Given the description of an element on the screen output the (x, y) to click on. 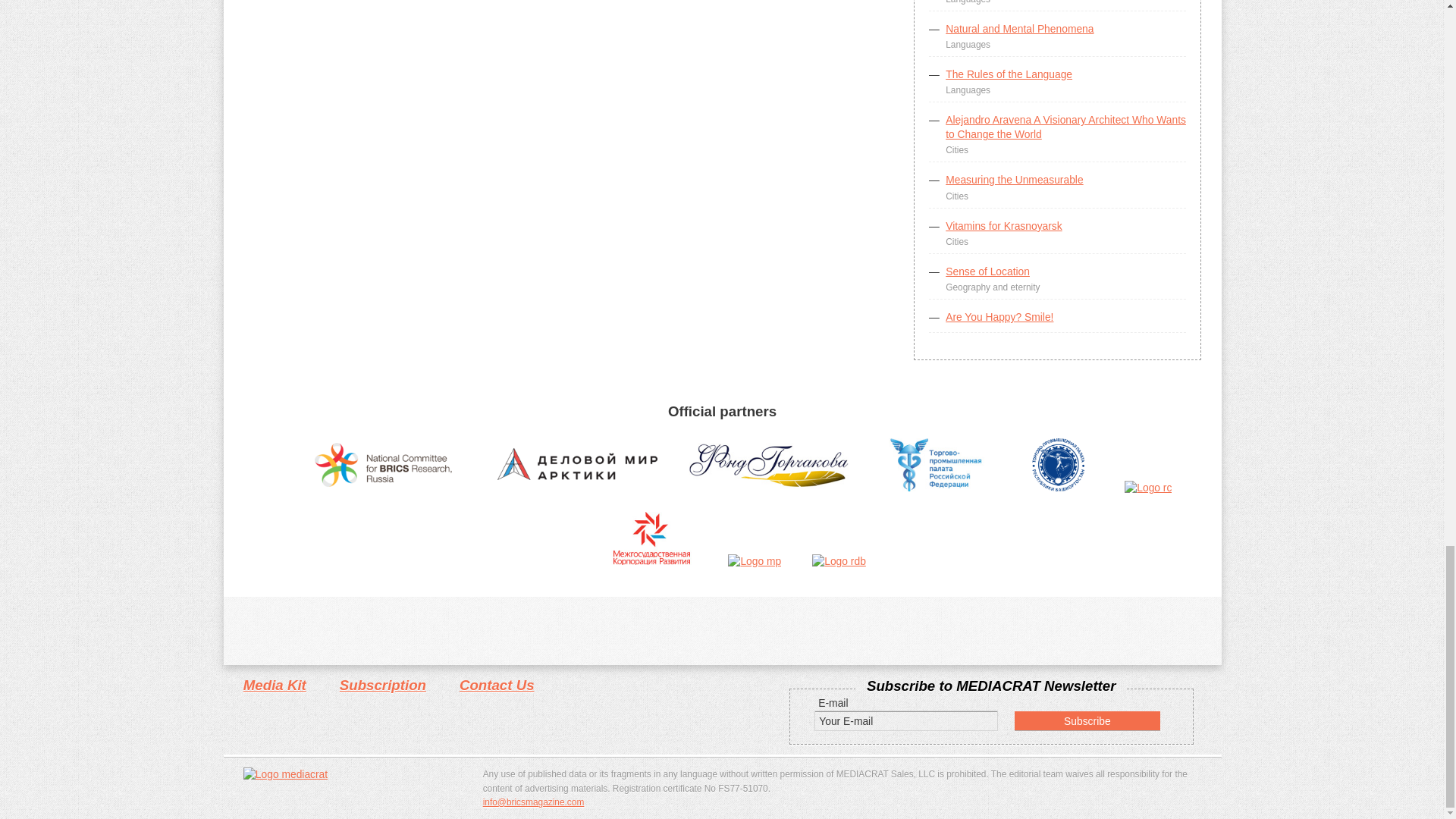
Subscribe (1086, 720)
Your E-mail (905, 720)
Your E-mail (905, 720)
